Given the description of an element on the screen output the (x, y) to click on. 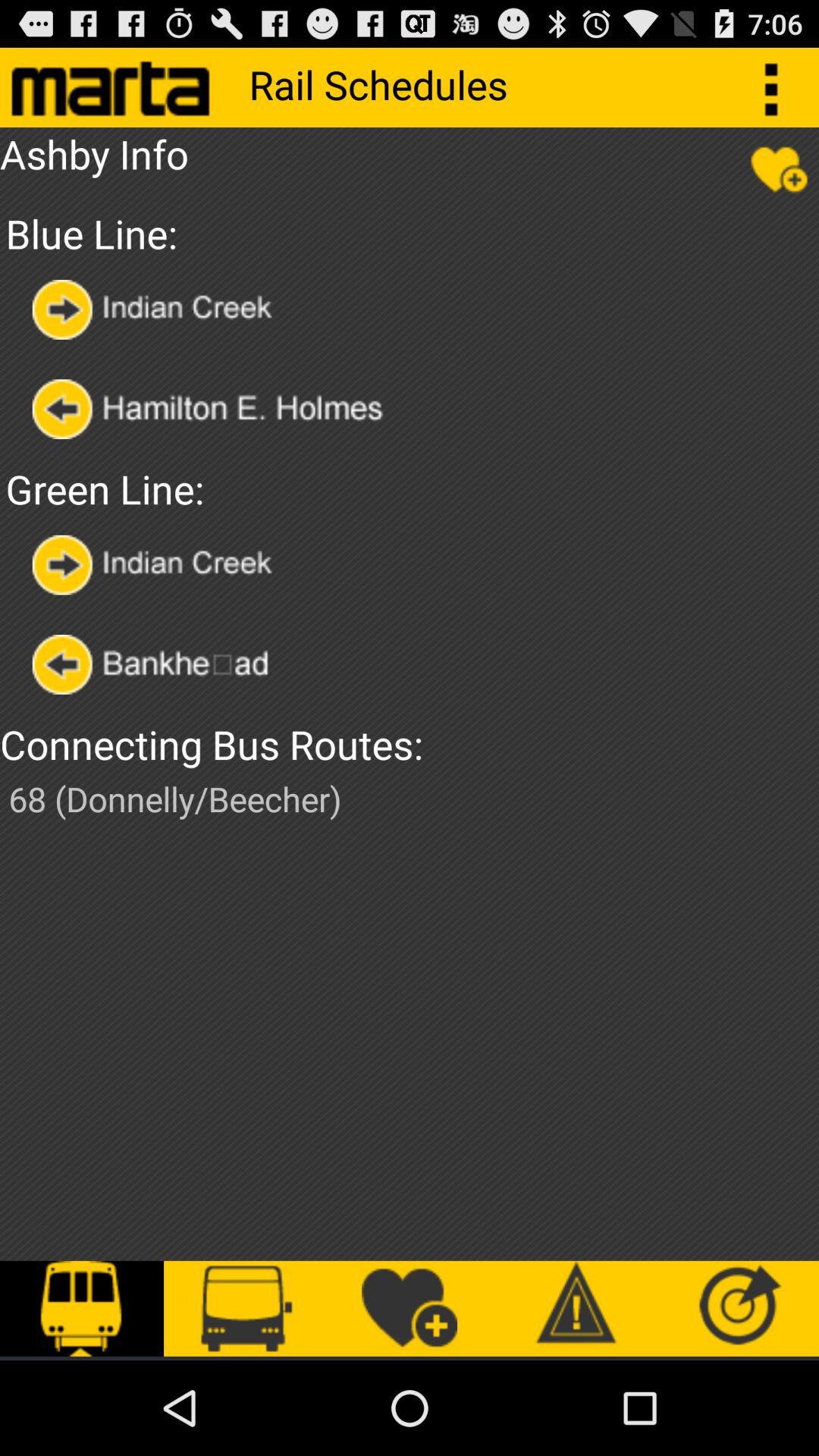
choose indian creek rail line (156, 564)
